Given the description of an element on the screen output the (x, y) to click on. 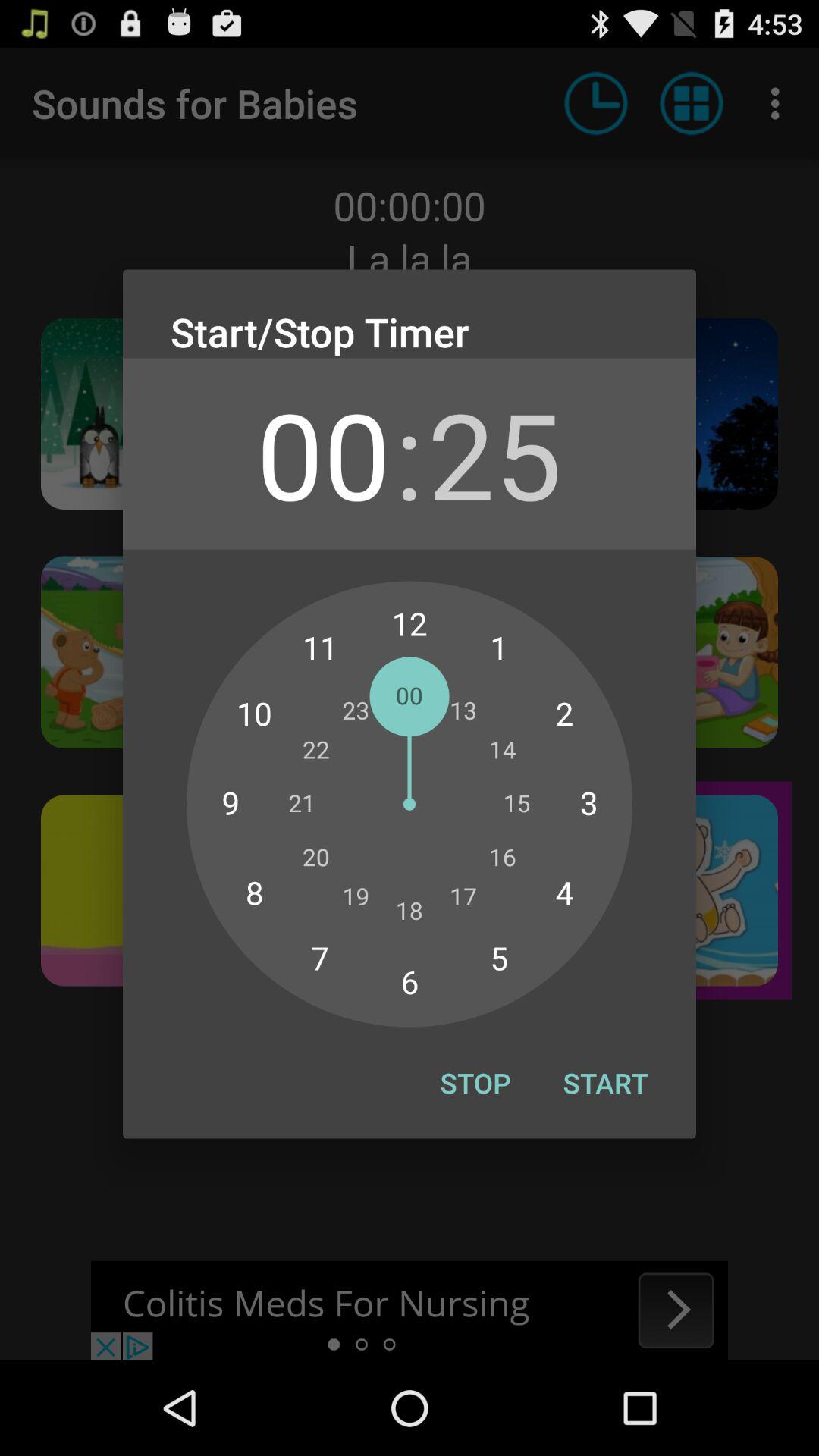
open the icon to the left of : (323, 453)
